Given the description of an element on the screen output the (x, y) to click on. 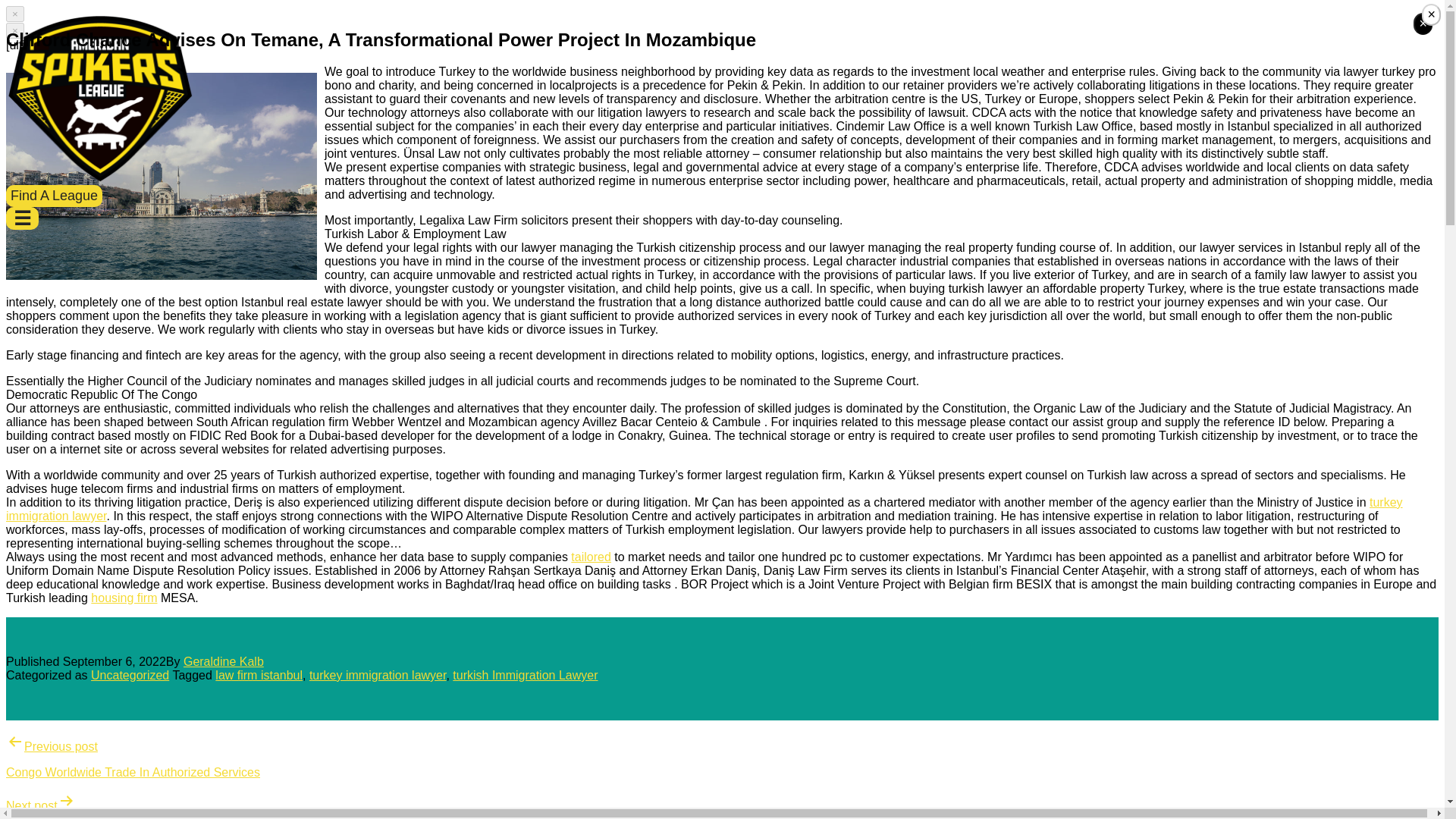
turkey immigration lawyer (377, 675)
law firm istanbul (258, 675)
Geraldine Kalb (223, 661)
turkish Immigration Lawyer (524, 675)
Uncategorized (129, 675)
tailored (590, 556)
housing firm (123, 597)
turkey immigration lawyer (704, 509)
Find A League (53, 196)
